Given the description of an element on the screen output the (x, y) to click on. 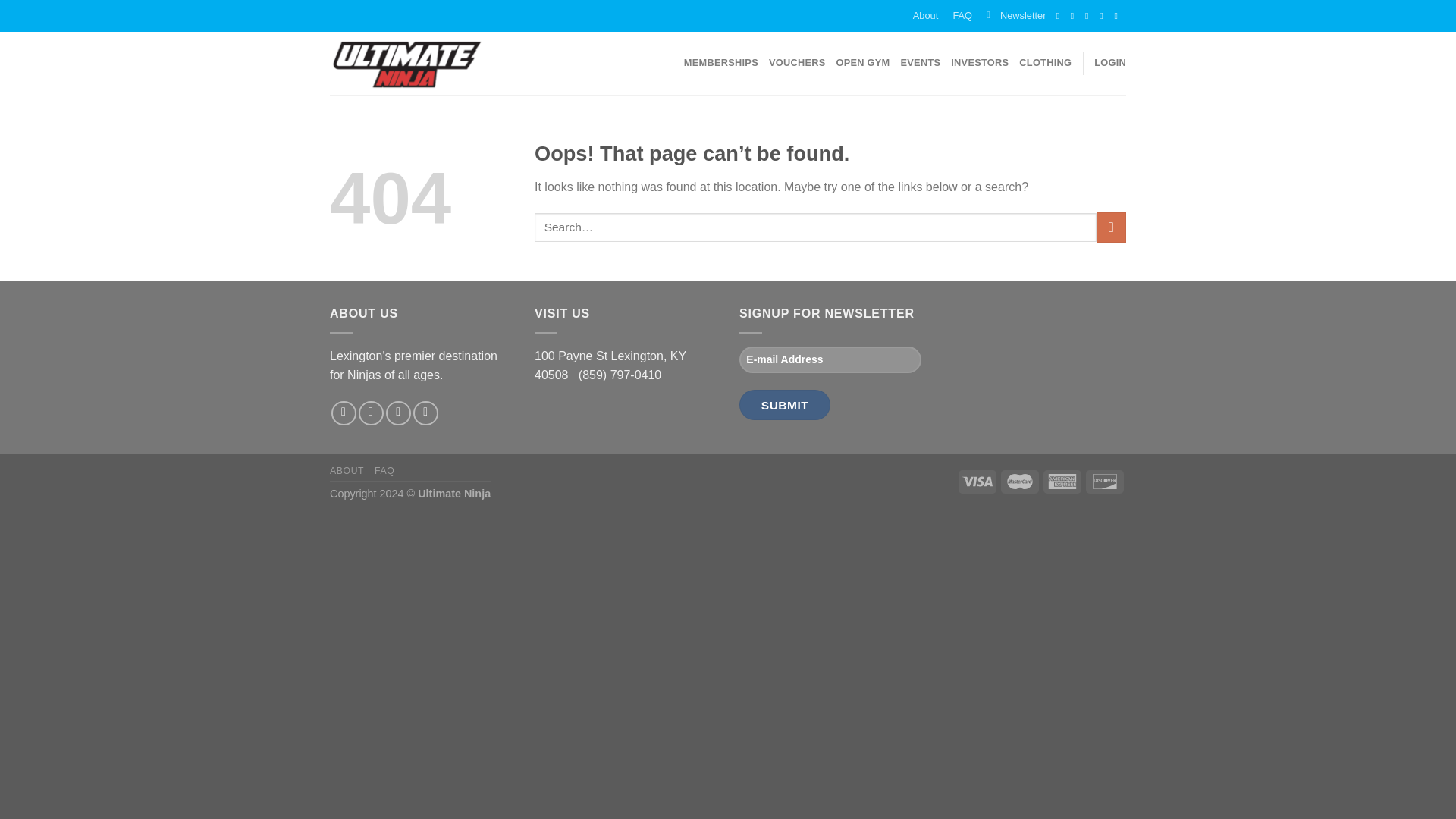
Ultimate Ninja (405, 63)
OPEN GYM (862, 62)
Follow on Facebook (343, 412)
ABOUT (347, 470)
Follow on Twitter (397, 412)
Newsletter (1015, 15)
MEMBERSHIPS (721, 62)
INVESTORS (979, 62)
FAQ (961, 15)
Follow on Instagram (371, 412)
CLOTHING (1045, 62)
LOGIN (1109, 62)
Send us an email (425, 412)
SUBMIT (784, 404)
About (924, 15)
